Given the description of an element on the screen output the (x, y) to click on. 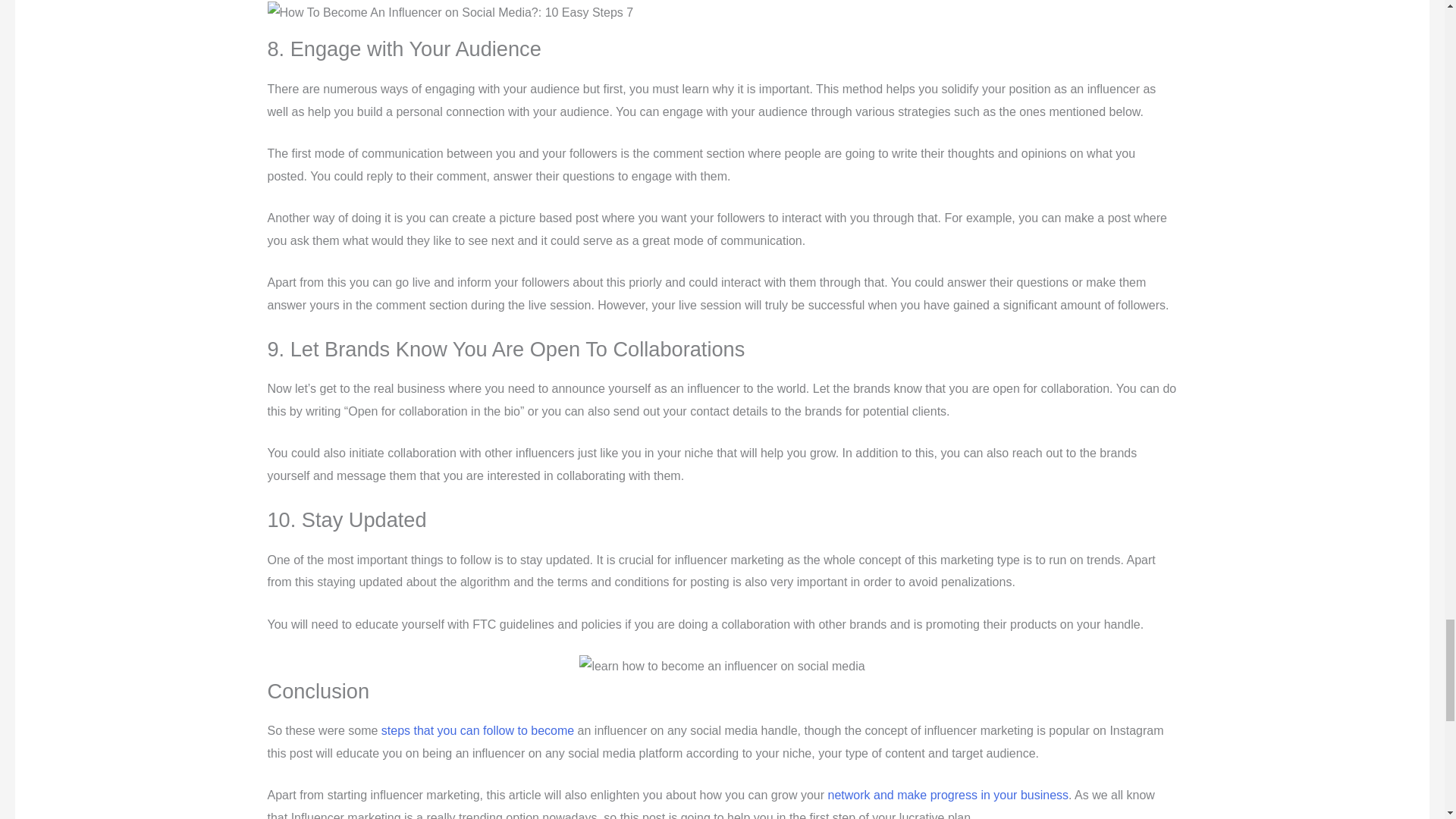
steps that you can follow to become (477, 730)
